Given the description of an element on the screen output the (x, y) to click on. 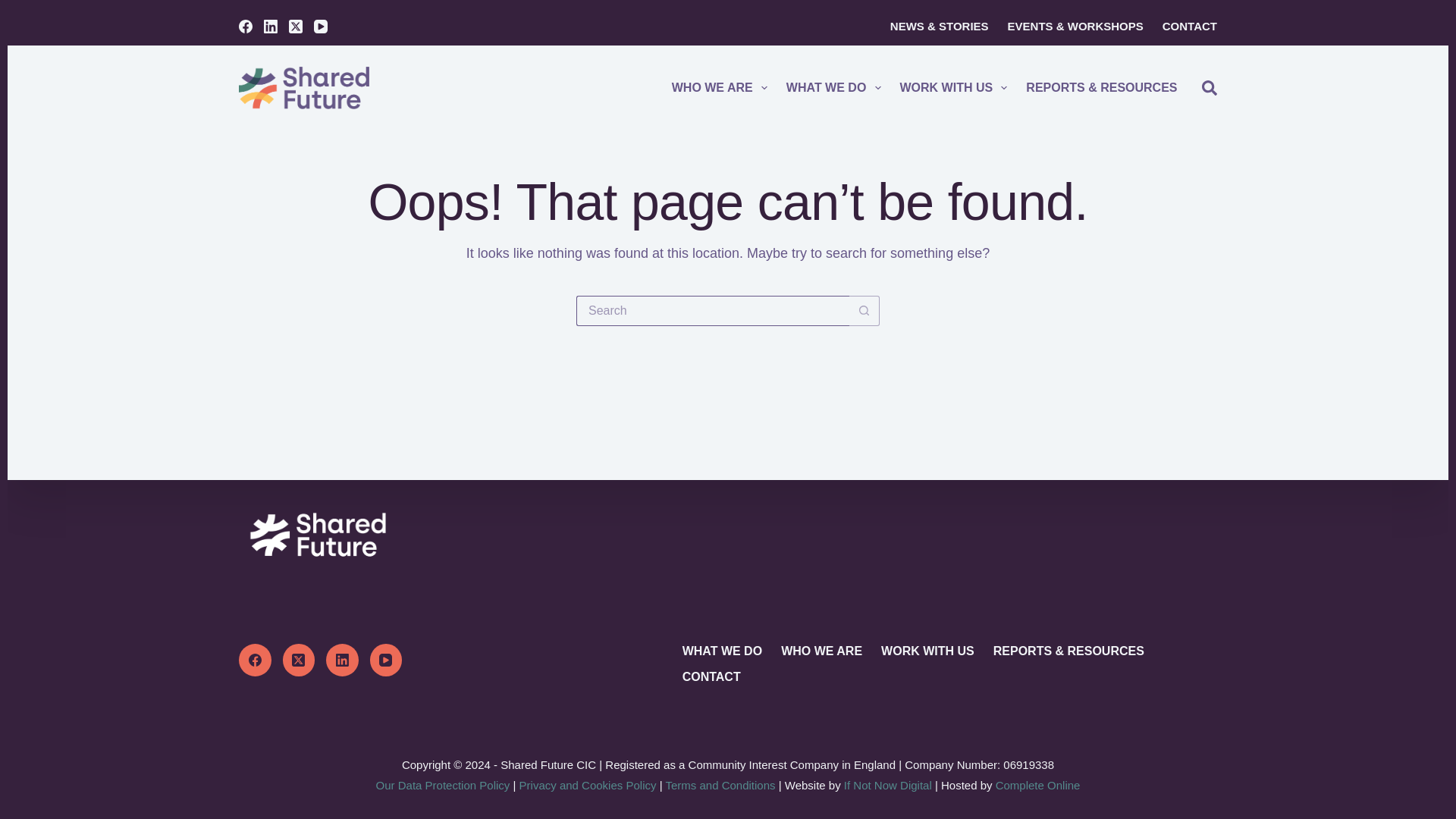
CONTACT (1185, 26)
Skip to content (15, 7)
Search for... (712, 310)
WHAT WE DO (832, 87)
WHO WE ARE (719, 87)
